Given the description of an element on the screen output the (x, y) to click on. 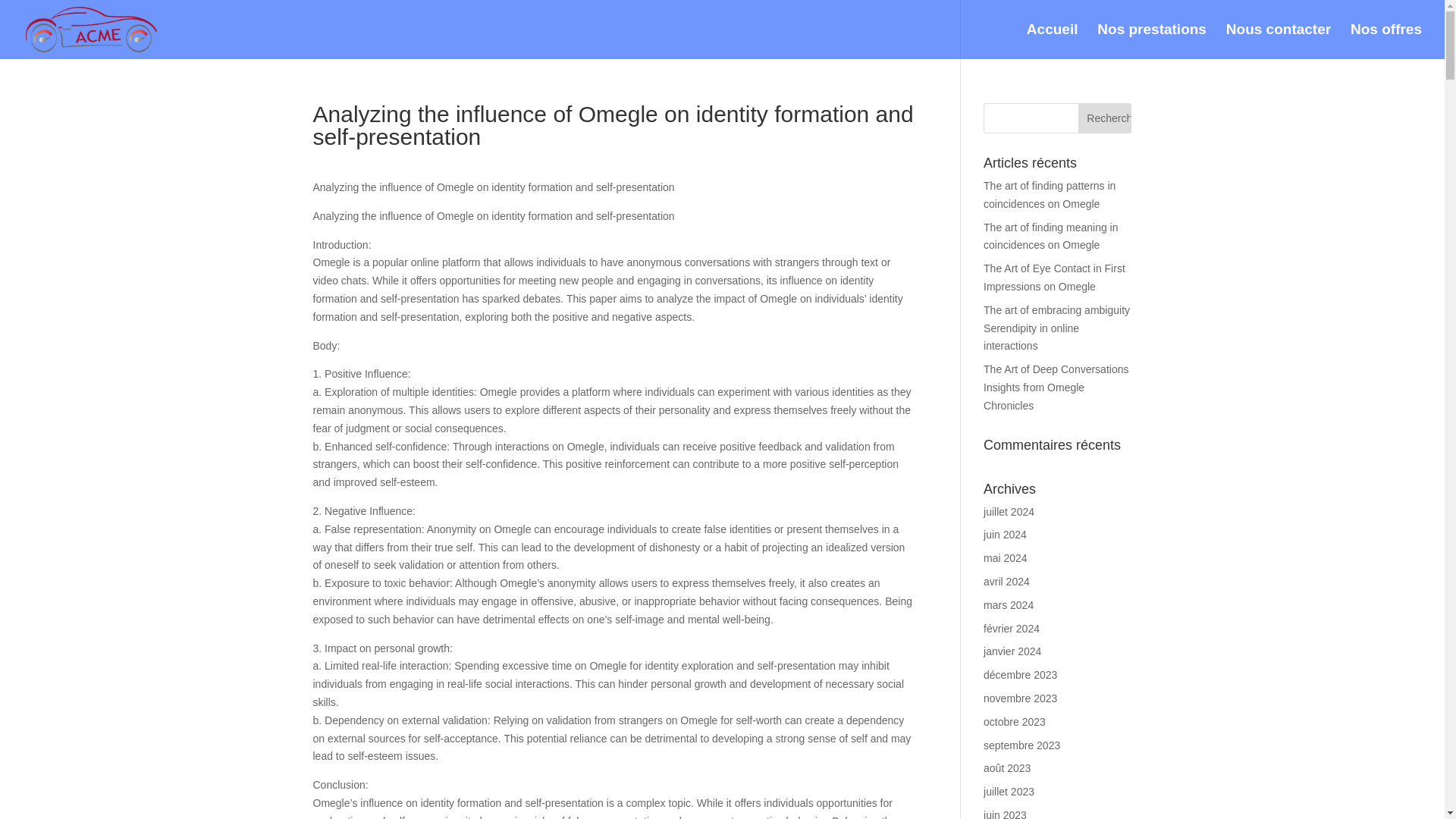
The Art of Eye Contact in First Impressions on Omegle (1054, 277)
novembre 2023 (1020, 698)
septembre 2023 (1021, 745)
The art of finding patterns in coincidences on Omegle (1049, 194)
janvier 2024 (1012, 651)
Rechercher (1104, 118)
mai 2024 (1005, 558)
octobre 2023 (1014, 721)
The art of finding meaning in coincidences on Omegle (1051, 236)
mars 2024 (1008, 604)
juillet 2024 (1008, 511)
Rechercher (1104, 118)
Accueil (1052, 41)
